Given the description of an element on the screen output the (x, y) to click on. 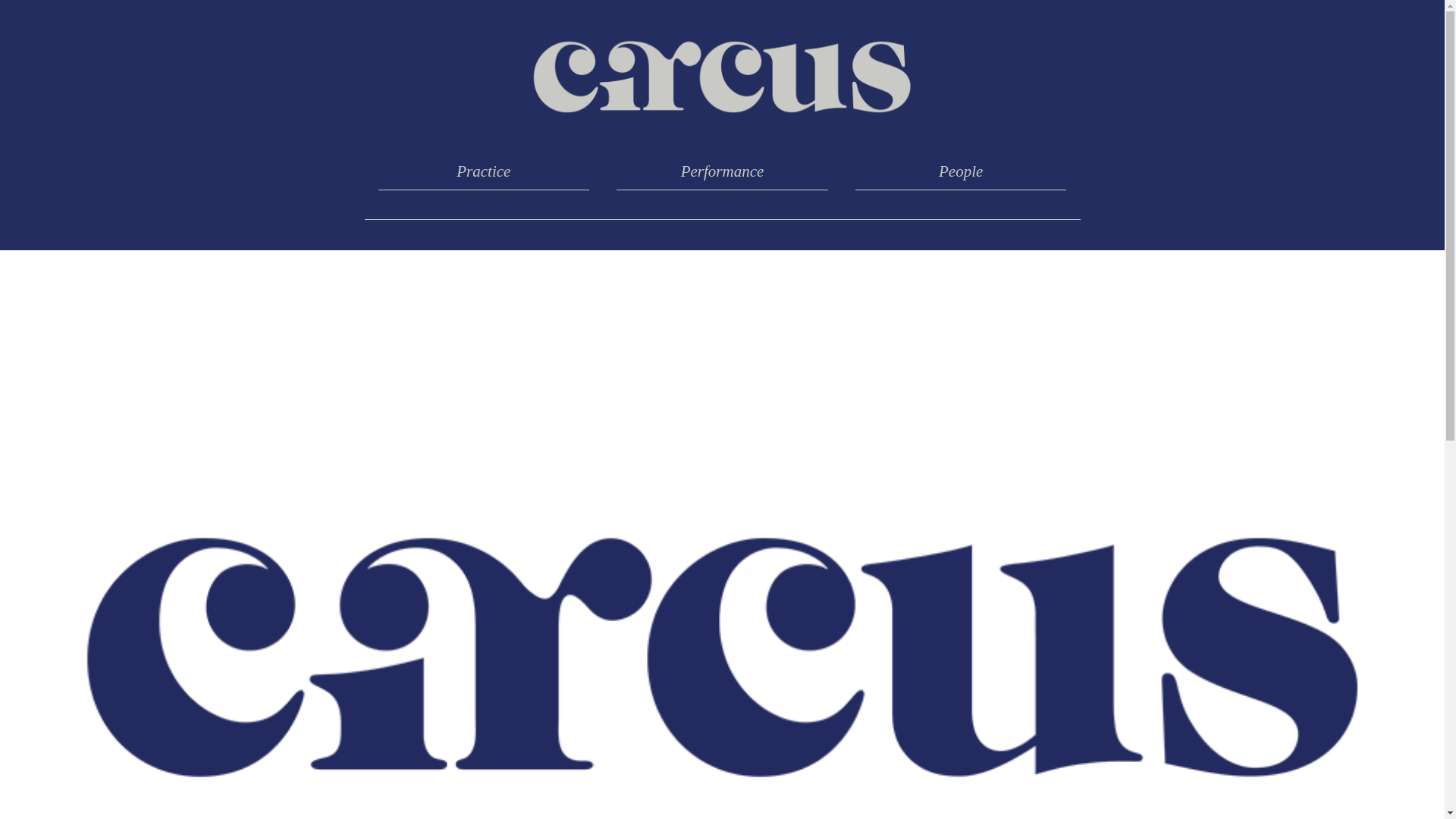
Circus (722, 76)
Performance (721, 171)
People (961, 171)
Practice (483, 171)
